Given the description of an element on the screen output the (x, y) to click on. 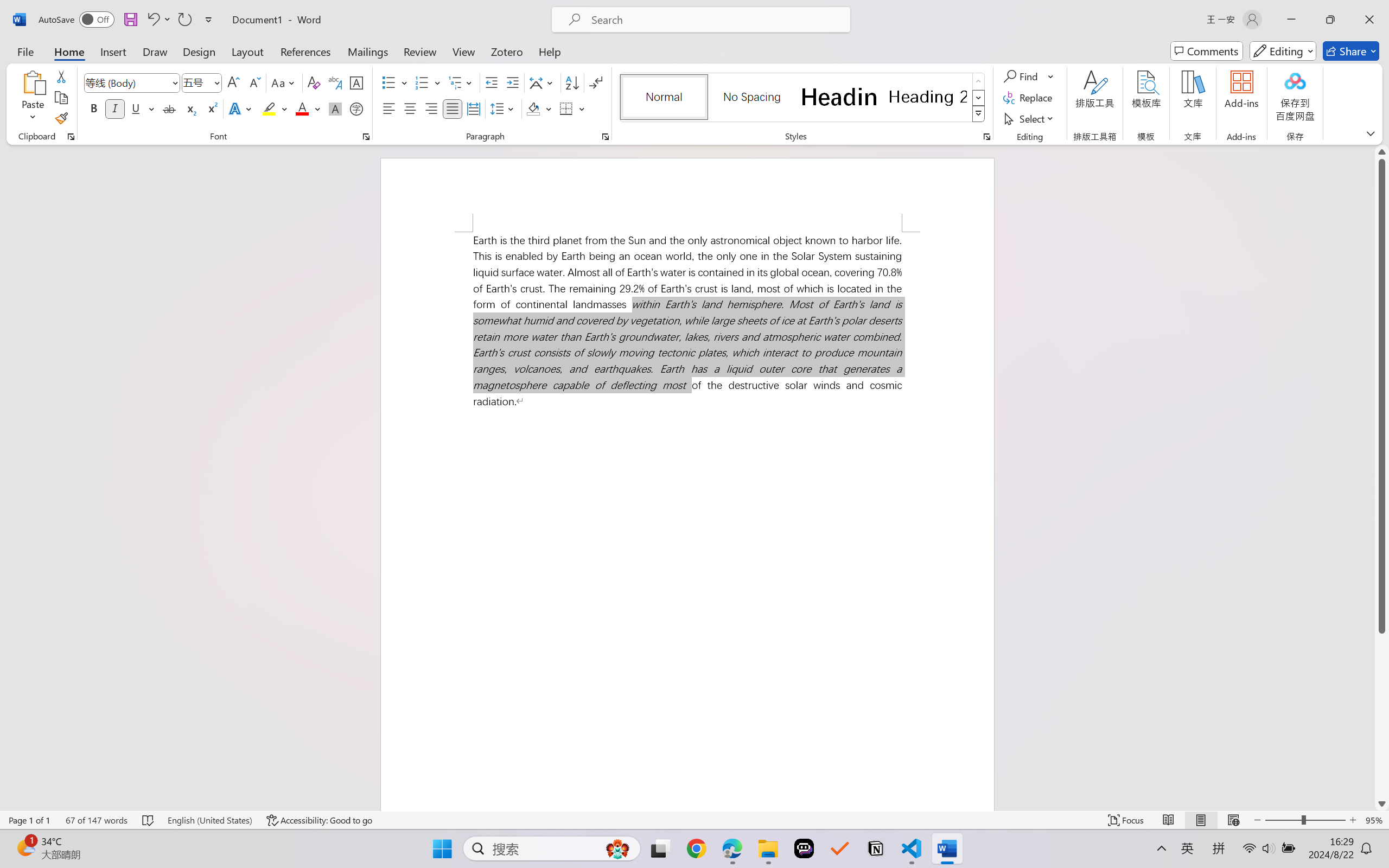
Format Painter (60, 118)
Select (1030, 118)
Font Color (308, 108)
Line up (1382, 151)
Character Border (356, 82)
Align Left (388, 108)
Font Color Red (302, 108)
